Given the description of an element on the screen output the (x, y) to click on. 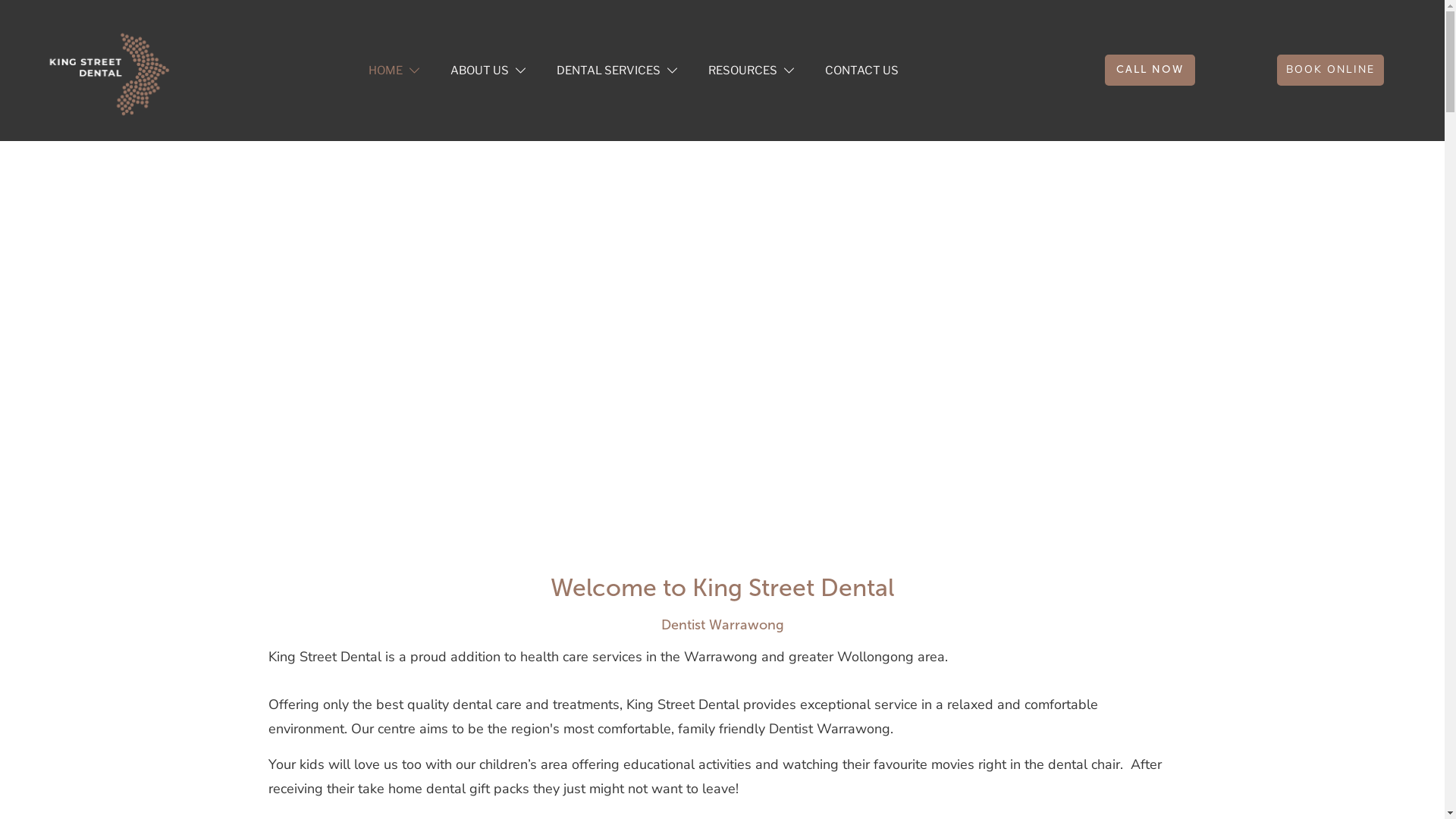
CALL NOW Element type: text (1149, 69)
King Street Dental Logo Element type: hover (106, 70)
CONTACT US Element type: text (861, 70)
RESOURCES Element type: text (751, 70)
BOOK ONLINE Element type: text (1330, 69)
ABOUT US Element type: text (488, 70)
DENTAL SERVICES Element type: text (616, 70)
HOME Element type: text (394, 70)
